Given the description of an element on the screen output the (x, y) to click on. 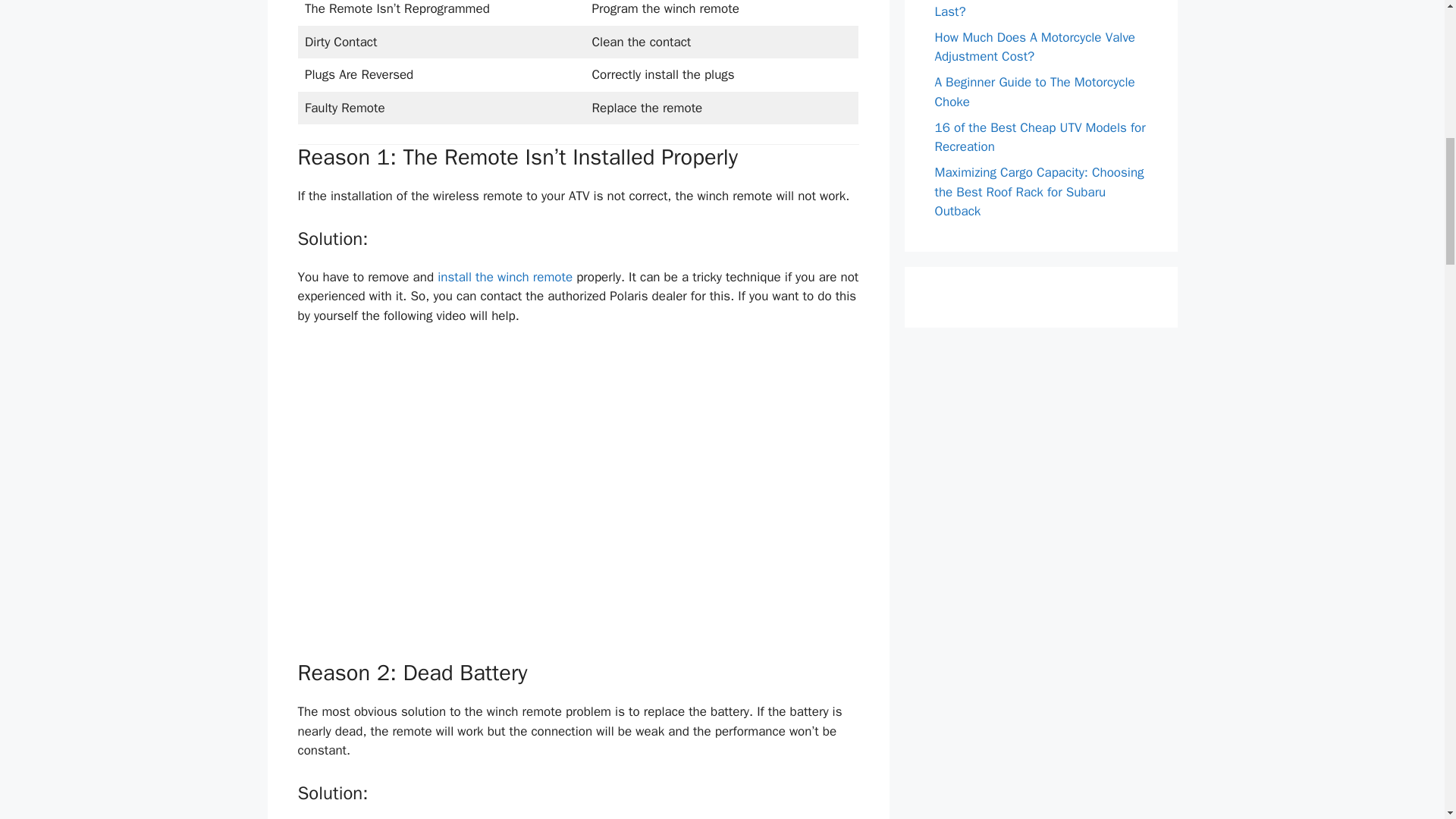
How Many Miles Will a Polaris Ranger Last? (1039, 9)
How Much Does A Motorcycle Valve Adjustment Cost? (1034, 46)
install the winch remote (505, 277)
A Beginner Guide to The Motorcycle Choke (1034, 91)
Scroll back to top (1406, 720)
16 of the Best Cheap UTV Models for Recreation (1039, 137)
